Given the description of an element on the screen output the (x, y) to click on. 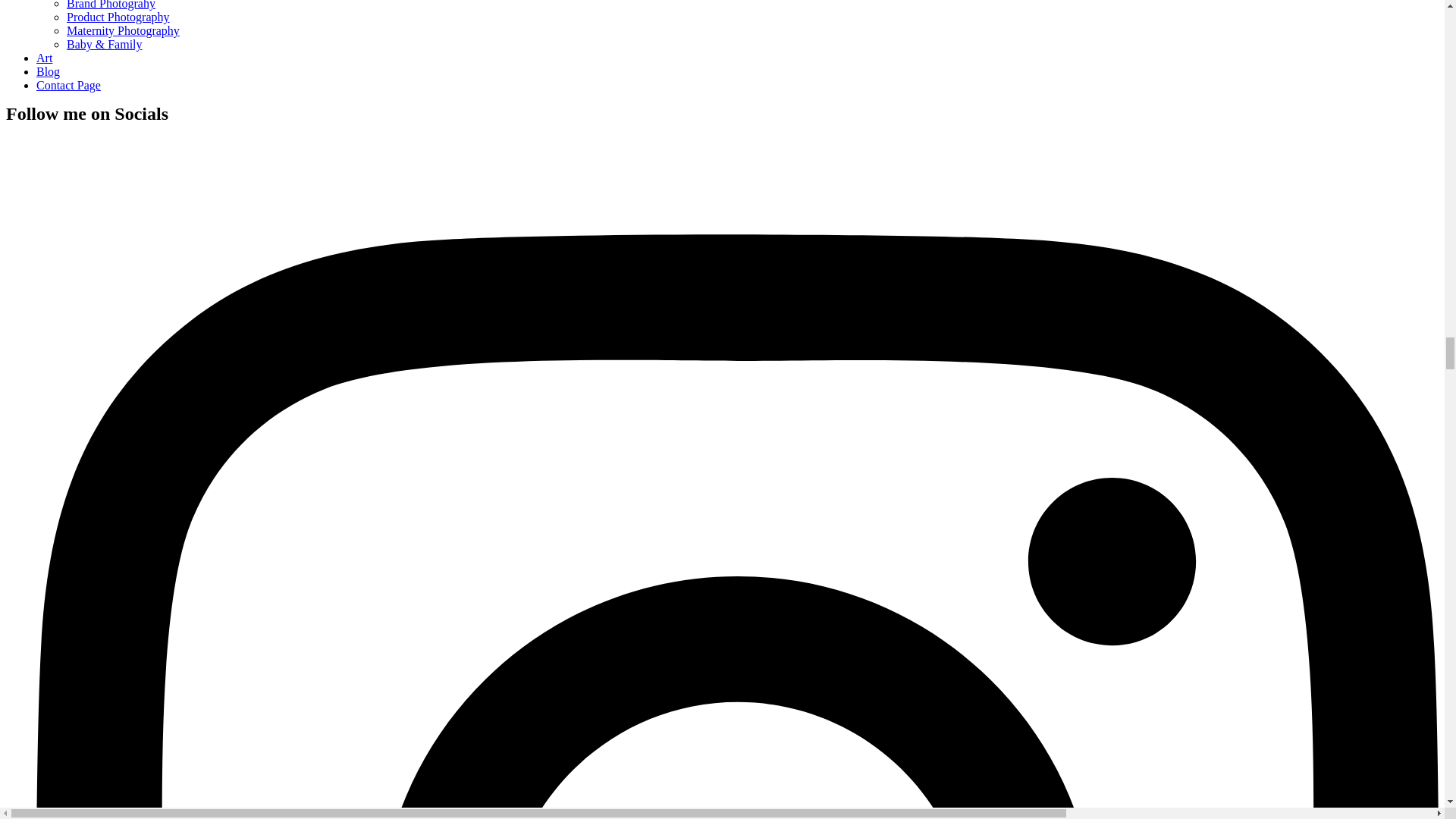
Maternity Photography (122, 30)
Brand Photograhy (110, 4)
Product Photography (118, 16)
